Given the description of an element on the screen output the (x, y) to click on. 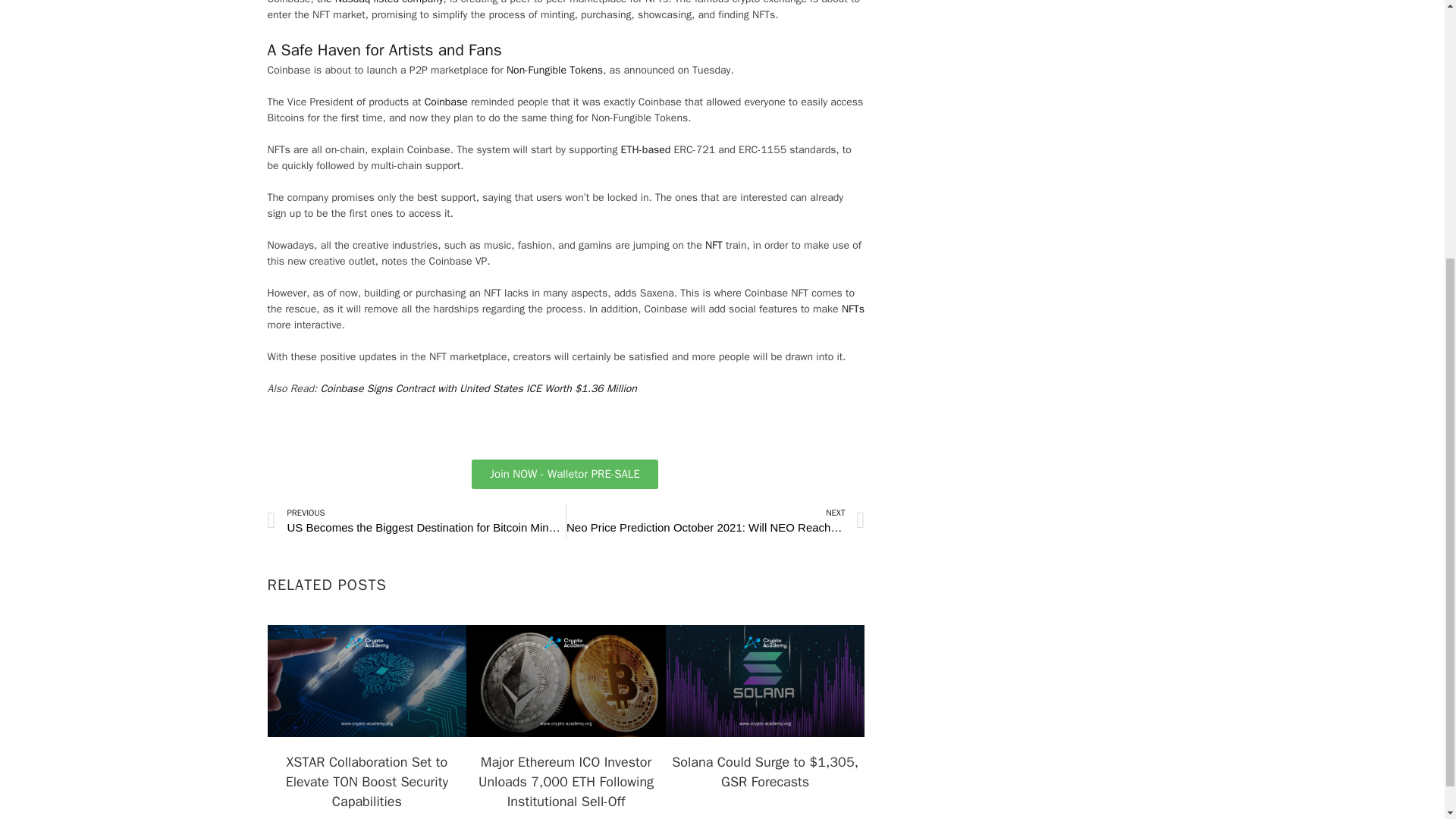
Non-Fungible Tokens (554, 69)
ETH-based (646, 149)
NFTs (852, 308)
NFT (713, 245)
Join NOW - Walletor PRE-SALE (564, 473)
Coinbase (446, 101)
the Nasdaq-listed company (380, 2)
